Given the description of an element on the screen output the (x, y) to click on. 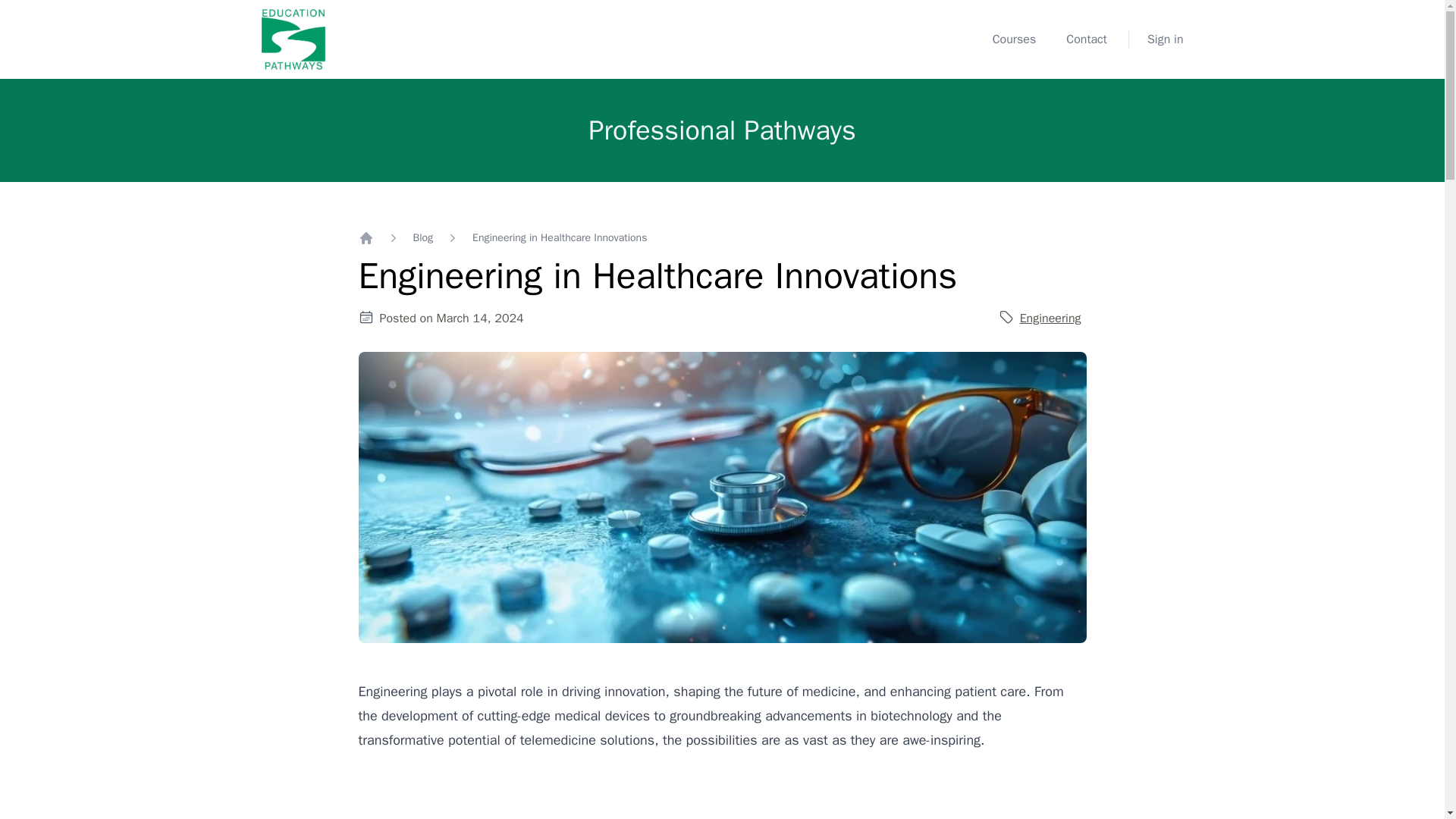
Engineering in Healthcare Innovations (558, 237)
Blog (422, 237)
Courses (1014, 39)
Sign in (1165, 38)
Home (365, 237)
Engineering (1050, 318)
Education Pathways (292, 39)
Contact (1085, 39)
